Given the description of an element on the screen output the (x, y) to click on. 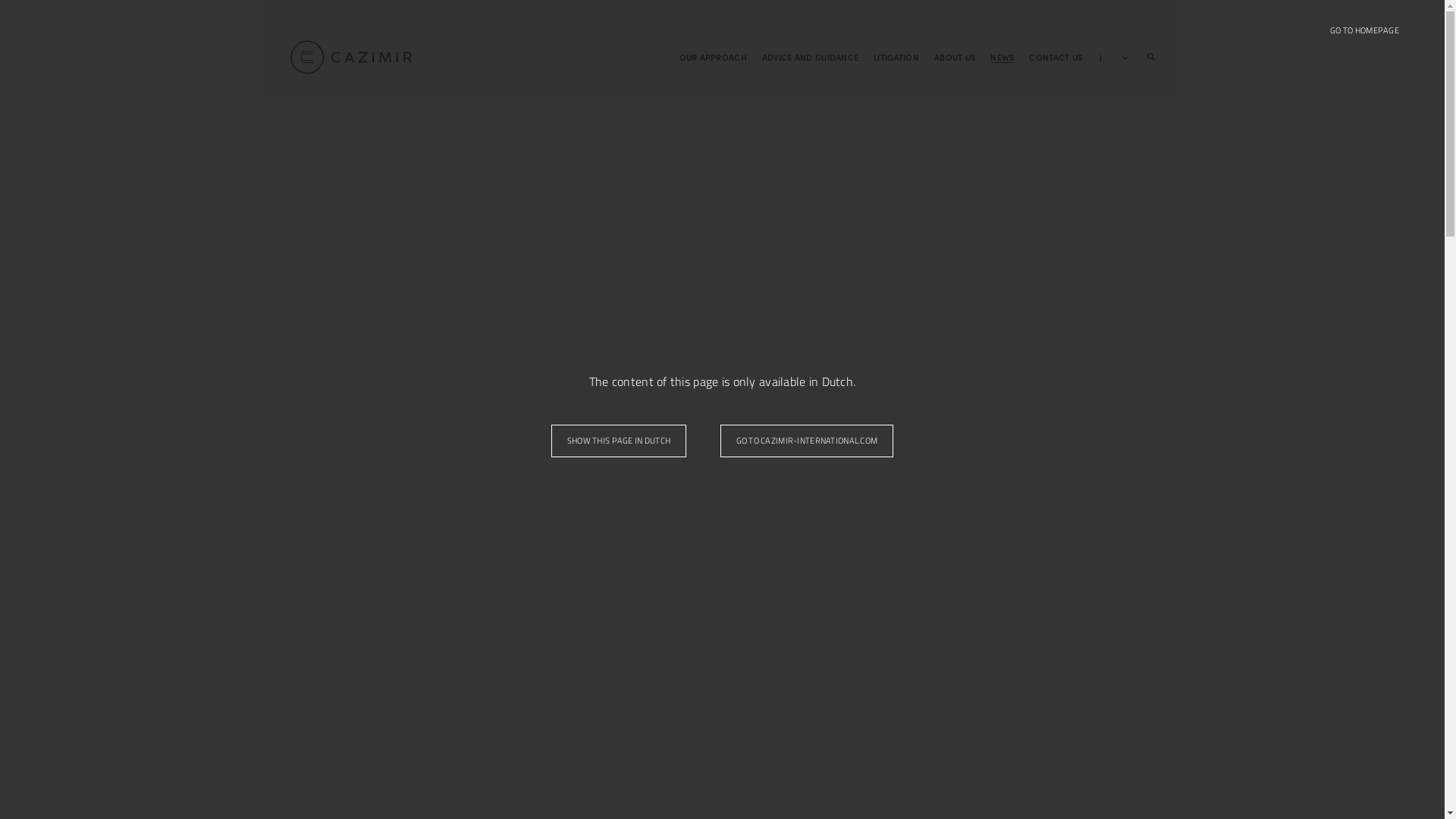
CONTACT US Element type: text (1055, 56)
GO TO CAZIMIR-INTERNATIONAL.COM Element type: text (807, 440)
LITIGATION Element type: text (896, 56)
GO TO HOMEPAGE Element type: text (1364, 30)
ABOUT US Element type: text (954, 56)
NEWS Element type: text (1001, 56)
Filter Element type: text (658, 15)
ADVICE AND GUIDANCE Element type: text (810, 56)
OUR APPROACH Element type: text (712, 56)
